Given the description of an element on the screen output the (x, y) to click on. 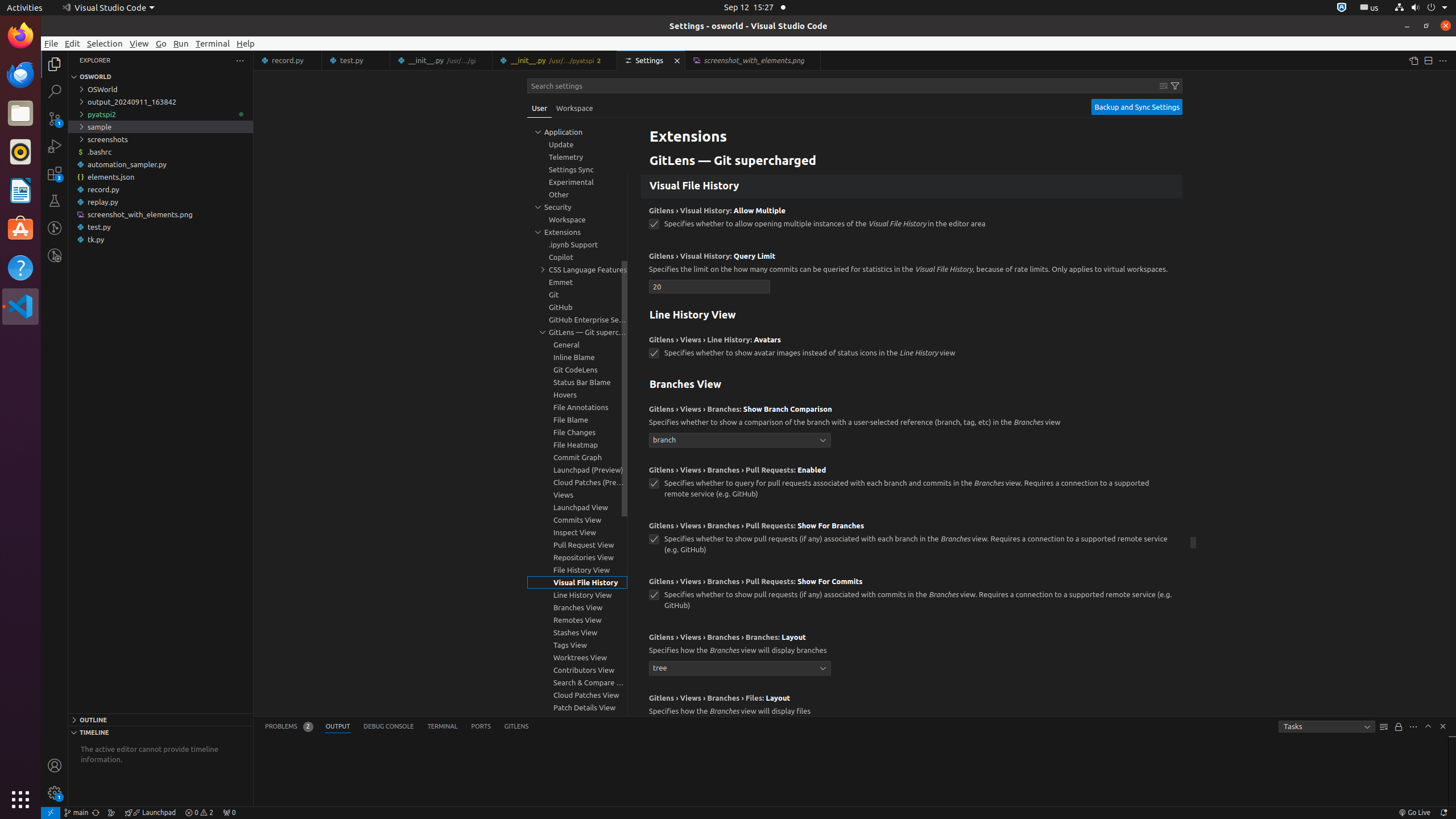
Accounts Element type: push-button (54, 765)
Outline Section Element type: push-button (160, 719)
remote Element type: push-button (50, 812)
Ports Element type: page-tab (480, 726)
Extensions (Ctrl+Shift+X) - 2 require restart Extensions (Ctrl+Shift+X) - 2 require restart Element type: page-tab (54, 173)
